Given the description of an element on the screen output the (x, y) to click on. 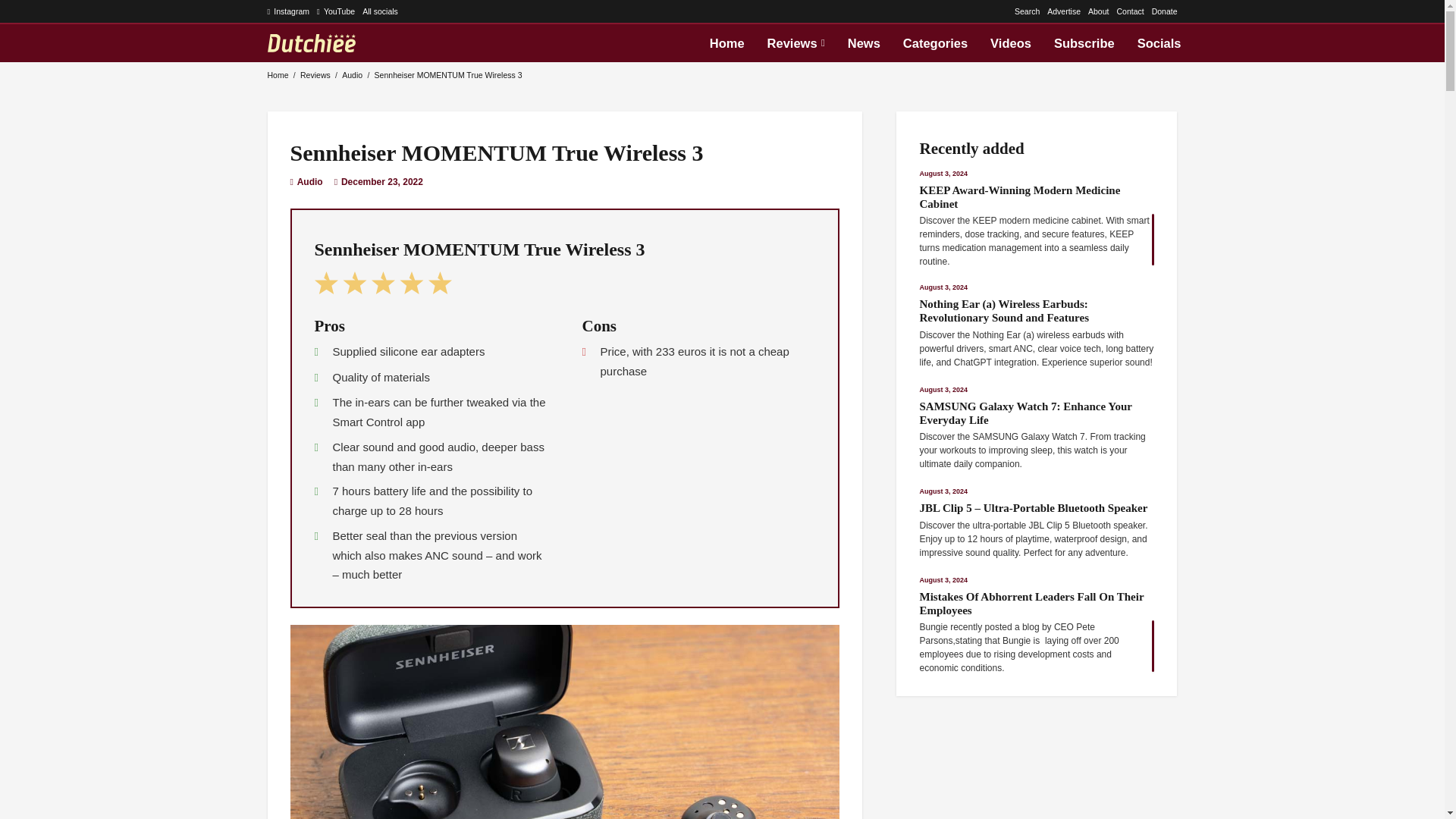
Contact (1129, 10)
Subscribe (1083, 43)
Donate (1164, 10)
Audio (352, 74)
Socials (1158, 43)
Home (277, 74)
Videos (1010, 43)
Instagram (287, 10)
Reviews (795, 43)
About (1097, 10)
Sennheiser MOMENTUM True Wireless 3 (448, 74)
All socials (379, 10)
Advertise (1063, 10)
Audio (310, 181)
Categories (934, 43)
